Given the description of an element on the screen output the (x, y) to click on. 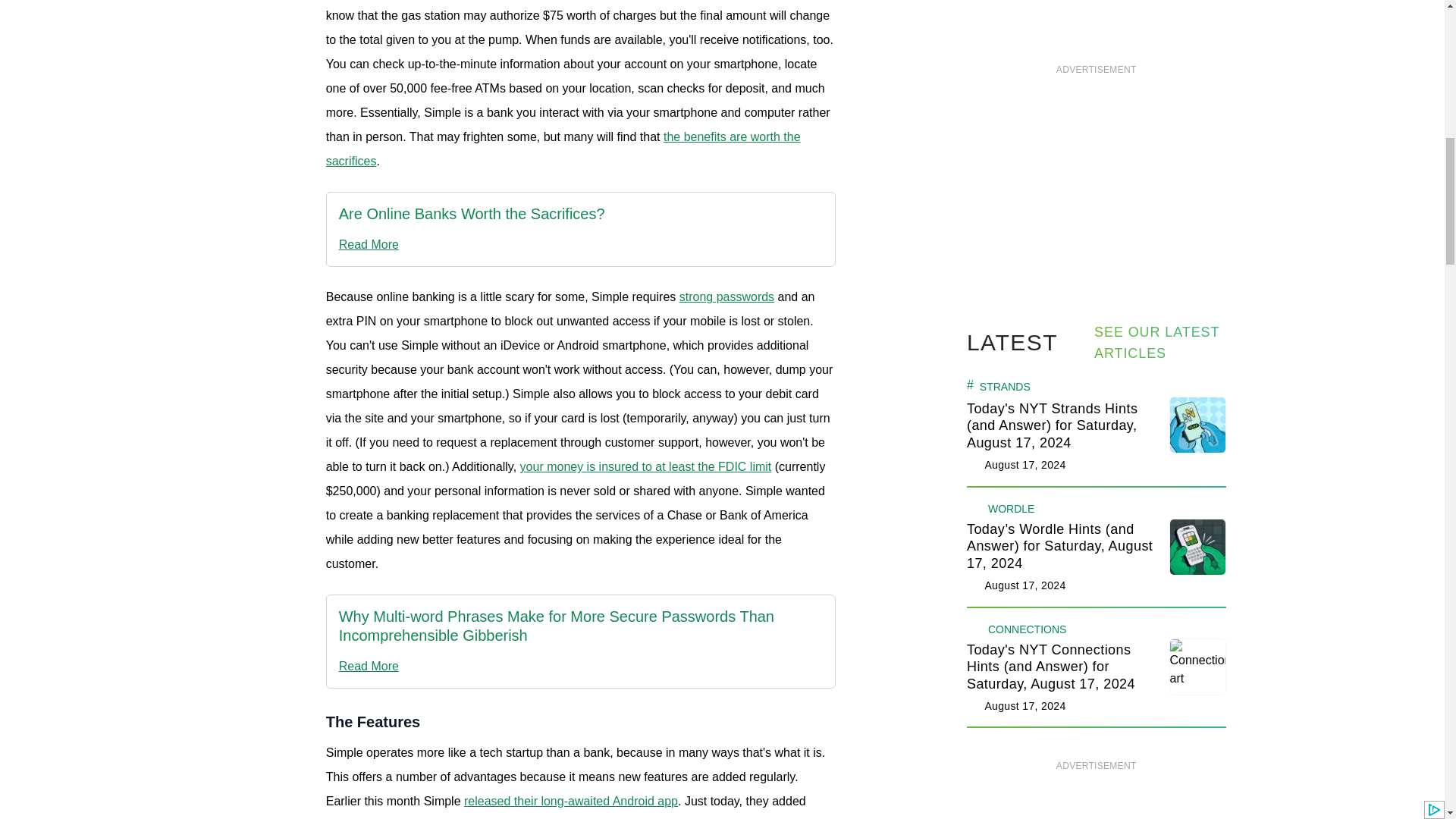
open in a new window (563, 148)
open in a new window (472, 213)
open in a new window (472, 244)
open in a new window (726, 296)
